Given the description of an element on the screen output the (x, y) to click on. 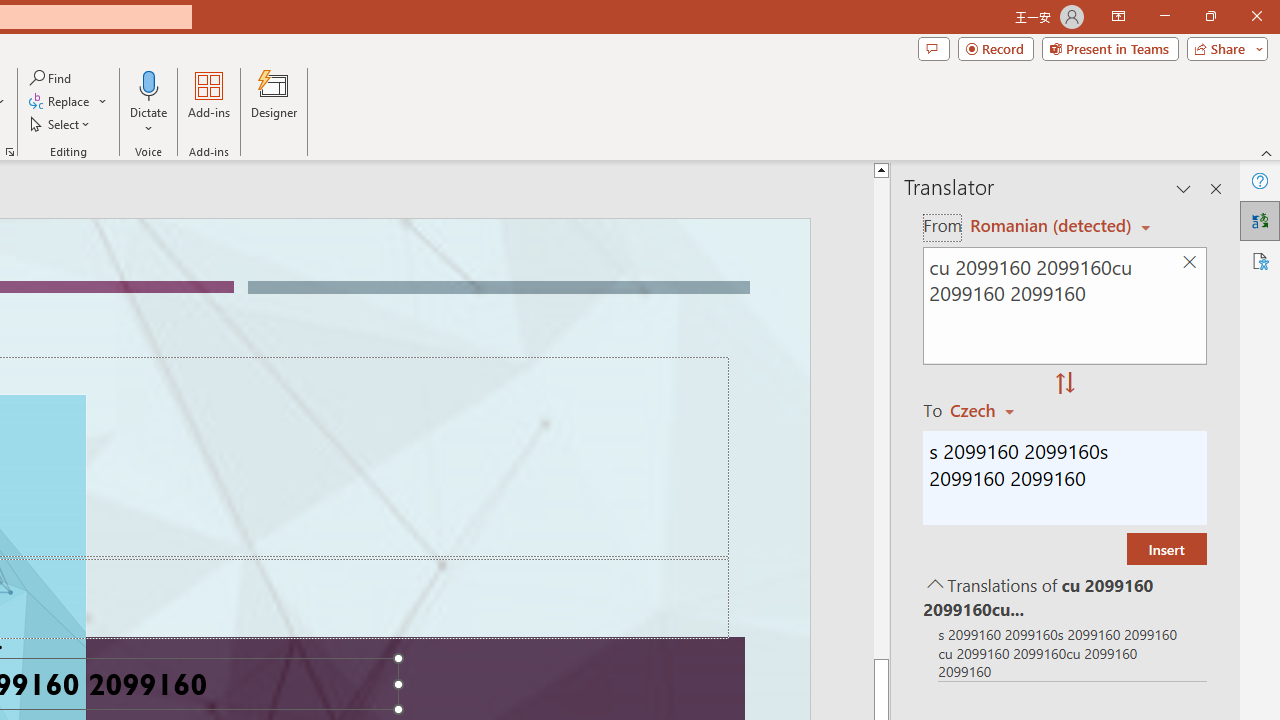
Czech (detected) (1047, 225)
Czech (991, 409)
Clear text (1189, 262)
